Given the description of an element on the screen output the (x, y) to click on. 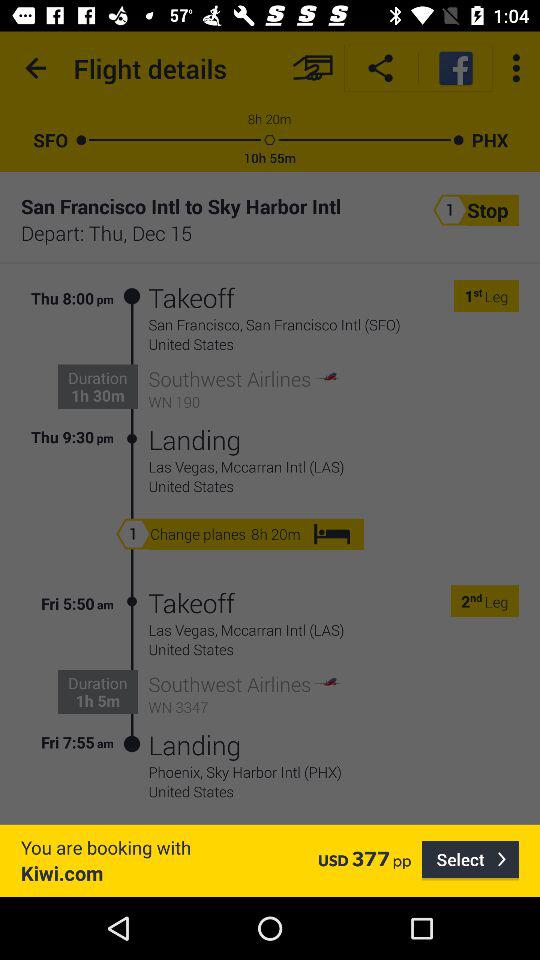
open item to the right of the 1 icon (477, 295)
